Given the description of an element on the screen output the (x, y) to click on. 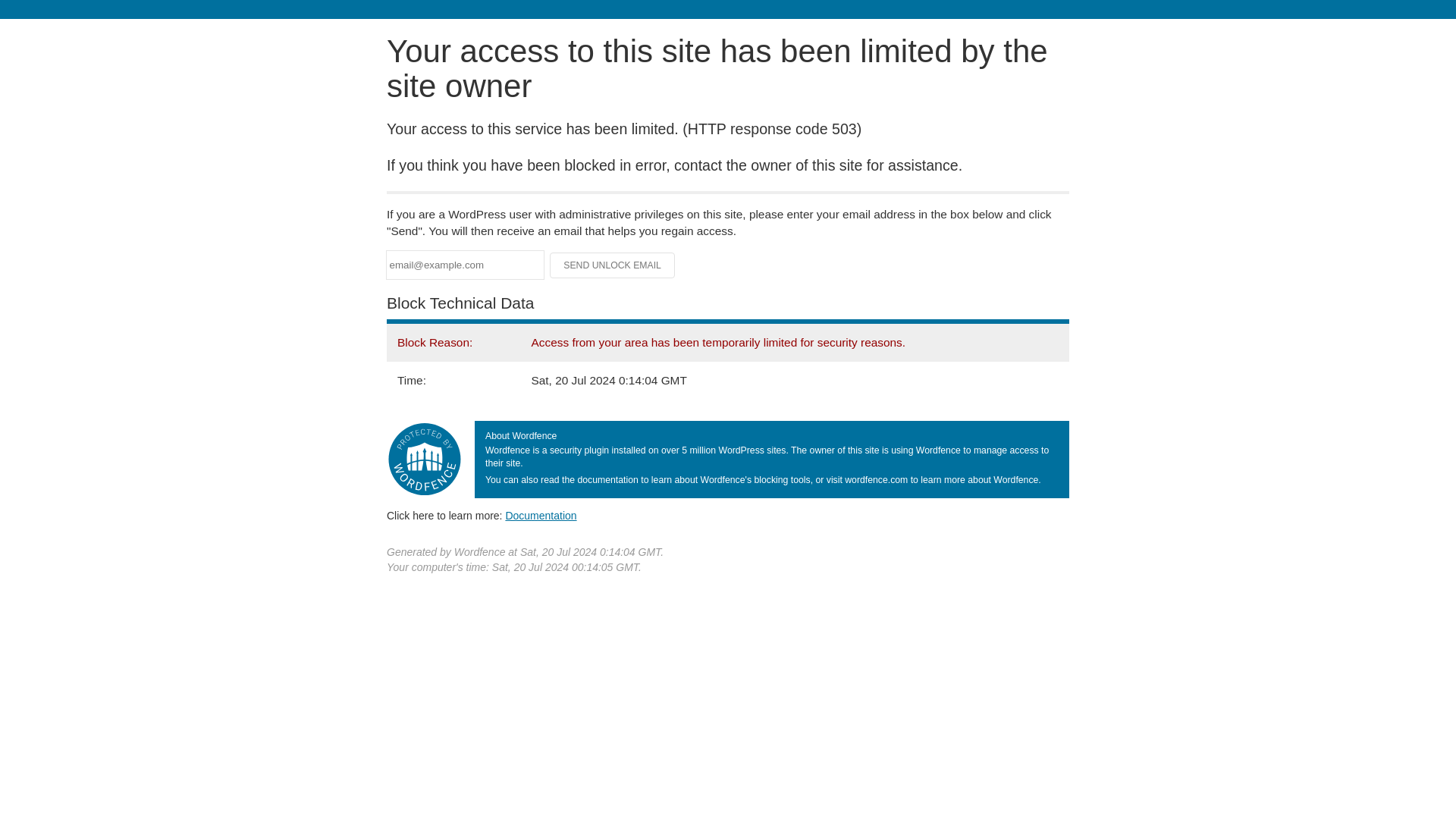
Send Unlock Email (612, 265)
Send Unlock Email (612, 265)
Documentation (540, 515)
